Given the description of an element on the screen output the (x, y) to click on. 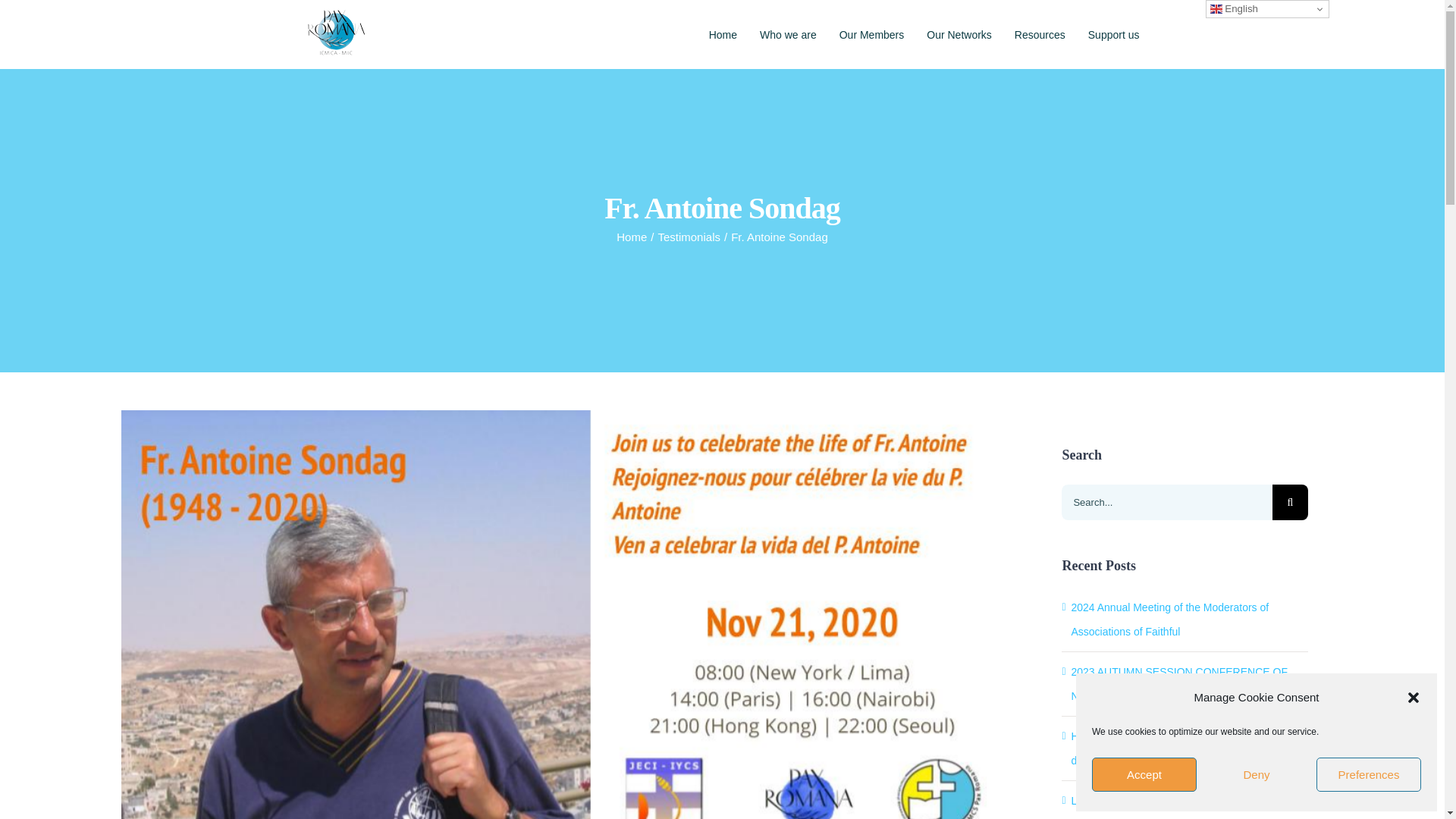
Deny (1256, 774)
Preferences (1368, 774)
Accept (1144, 774)
Our Networks (958, 34)
Our Members (872, 34)
